Given the description of an element on the screen output the (x, y) to click on. 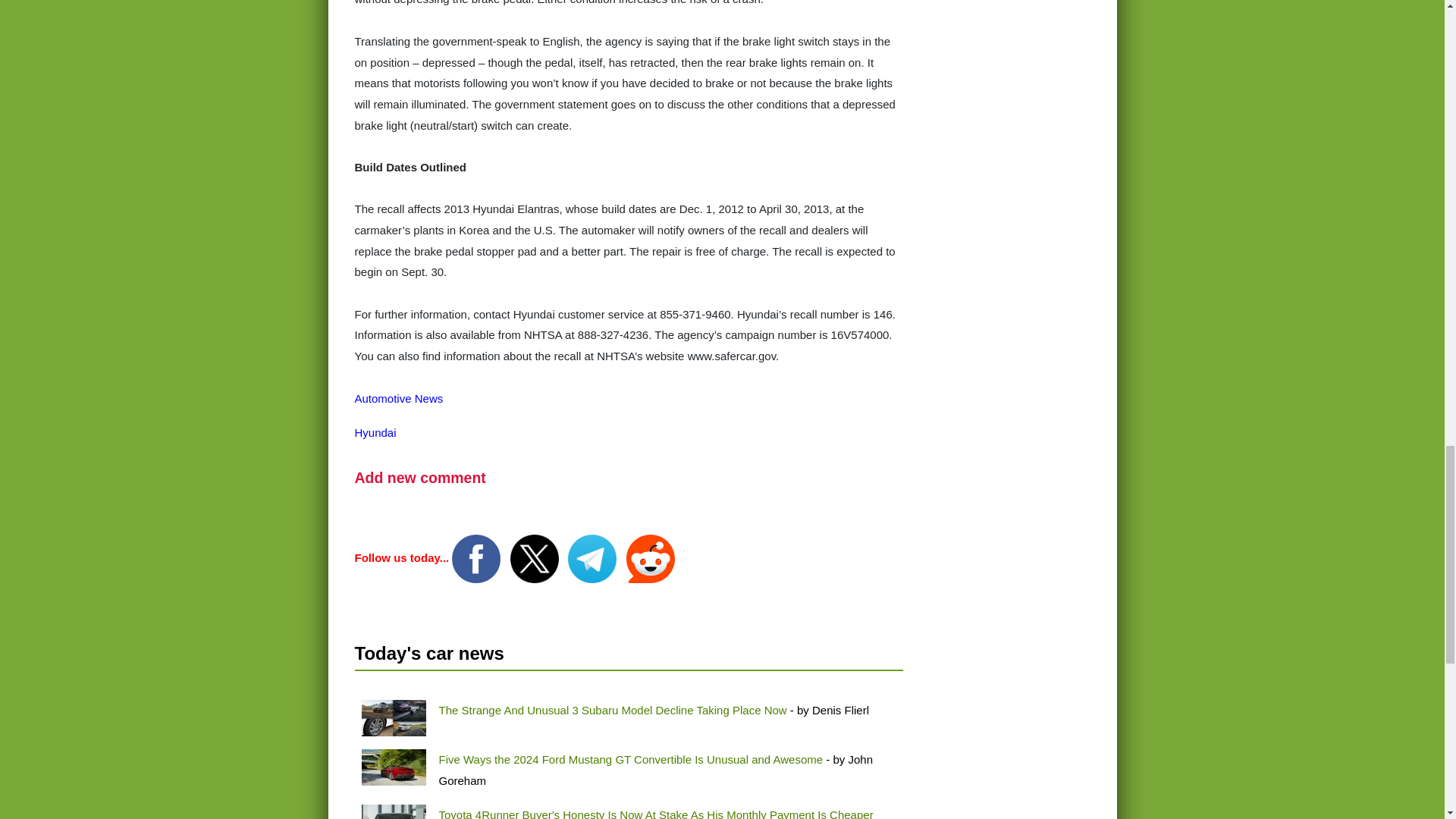
Automotive News (399, 398)
Join us on Telegram! (593, 557)
Add new comment (420, 477)
Join us on Reddit! (650, 557)
Image of 2024 Ford Mustang GT courtesy of Ford.  (393, 767)
Hyundai (375, 431)
2024 Subaru Outback next to Ascent and Legacy (393, 718)
